Given the description of an element on the screen output the (x, y) to click on. 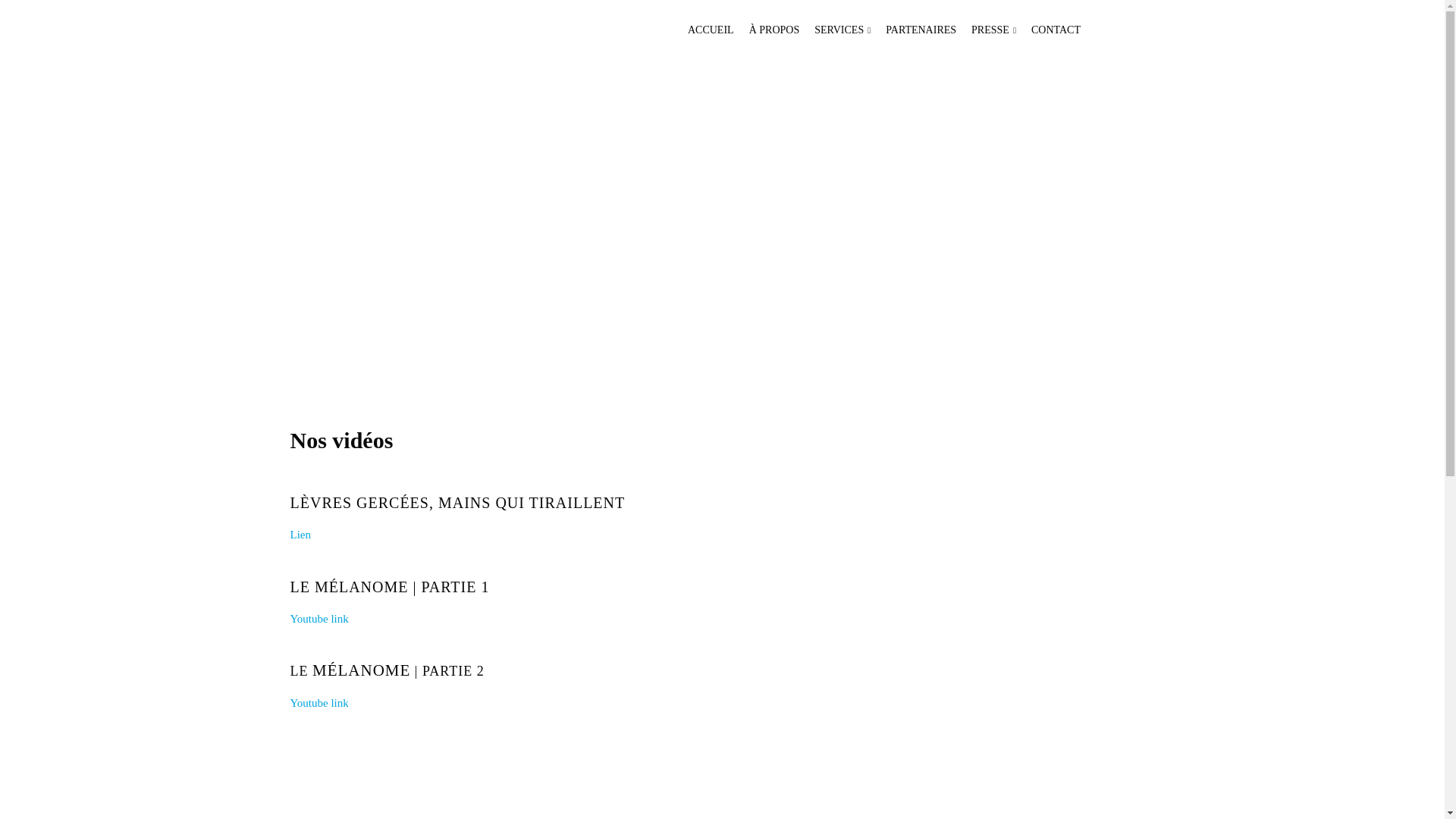
PARTENAIRES Element type: text (913, 35)
Youtube link Element type: text (318, 702)
PRESSE Element type: text (986, 35)
ACCUEIL Element type: text (703, 35)
Youtube link Element type: text (318, 618)
SERVICES Element type: text (834, 35)
CONTACT Element type: text (1048, 35)
Lien Element type: text (299, 534)
